Given the description of an element on the screen output the (x, y) to click on. 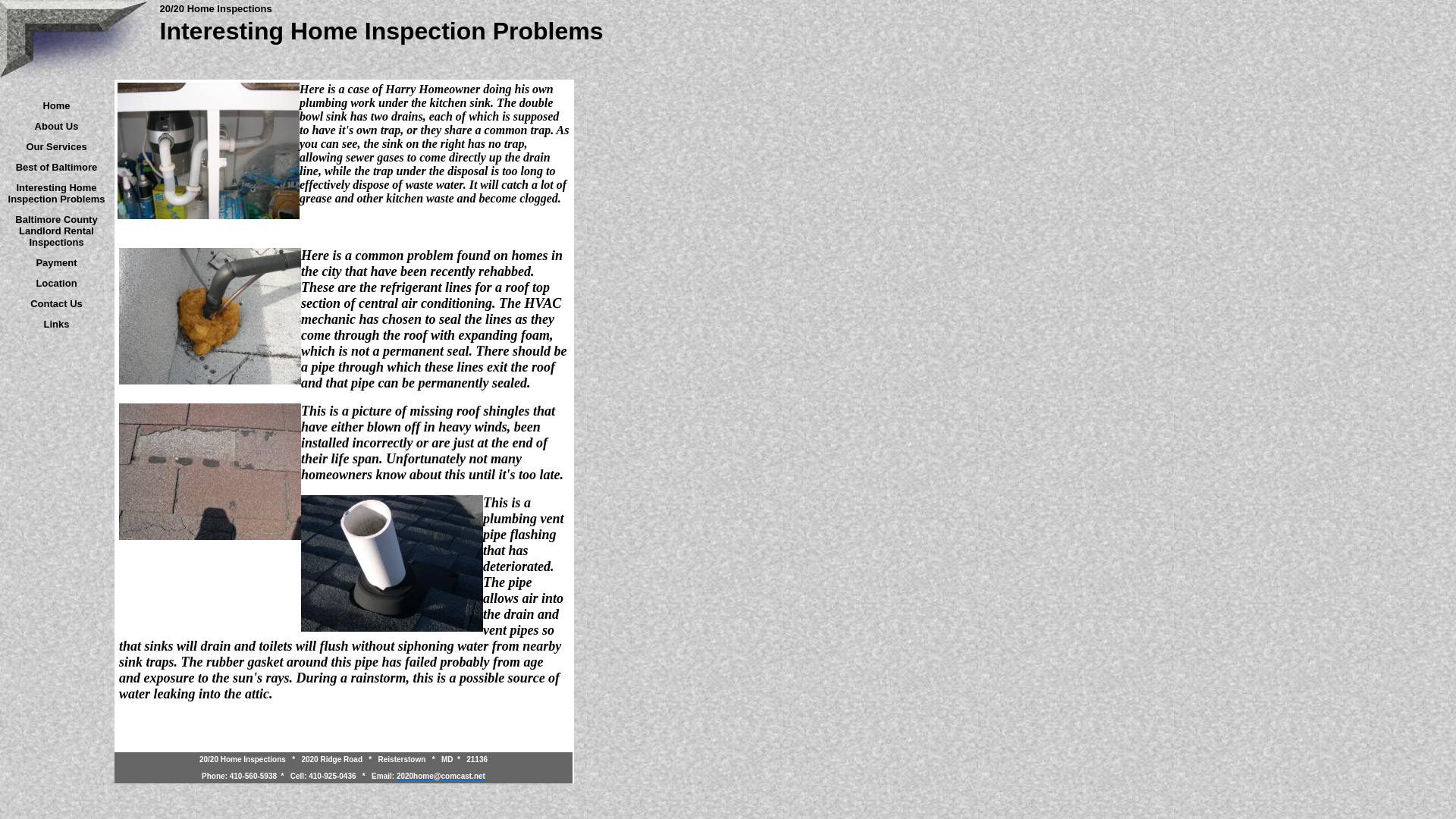
Our Services Element type: text (55, 145)
Home Element type: text (55, 104)
Payment Element type: text (55, 261)
Location Element type: text (55, 282)
Best of Baltimore Element type: text (56, 166)
Links Element type: text (56, 322)
Contact Us Element type: text (56, 302)
Interesting Home Inspection Problems Element type: text (56, 192)
Baltimore County Landlord Rental Inspections Element type: text (56, 229)
About Us Element type: text (56, 125)
2020home@comcast.net Element type: text (440, 775)
